Given the description of an element on the screen output the (x, y) to click on. 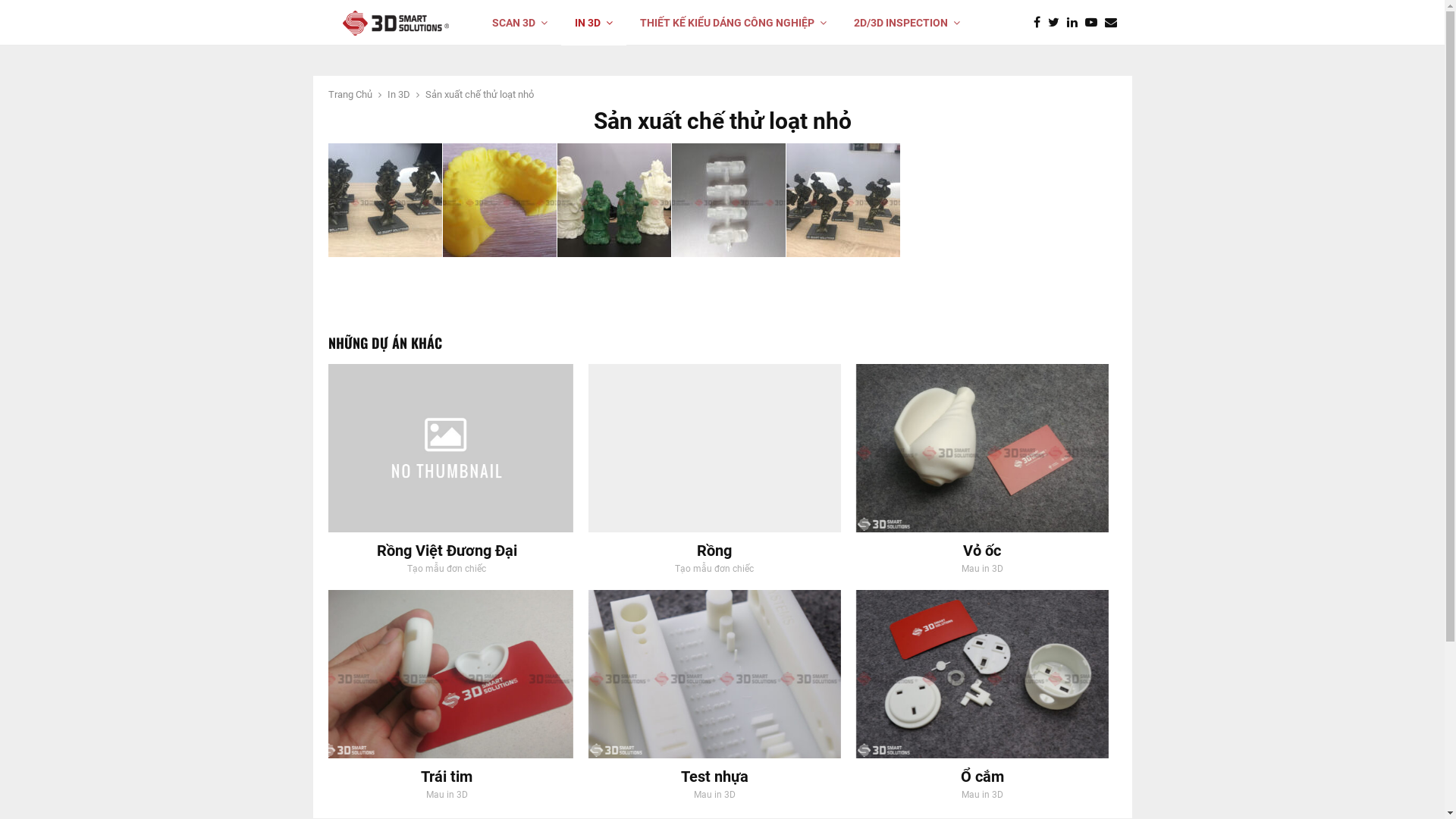
Facebook Element type: hover (1039, 22)
2D/3D INSPECTION Element type: text (906, 22)
SCAN 3D Element type: text (519, 22)
IN 3D Element type: text (593, 22)
Email Element type: hover (1113, 22)
Youtube Element type: hover (1094, 22)
Linkedin Element type: hover (1075, 22)
In 3D Element type: text (397, 94)
Twitter Element type: hover (1057, 22)
